Given the description of an element on the screen output the (x, y) to click on. 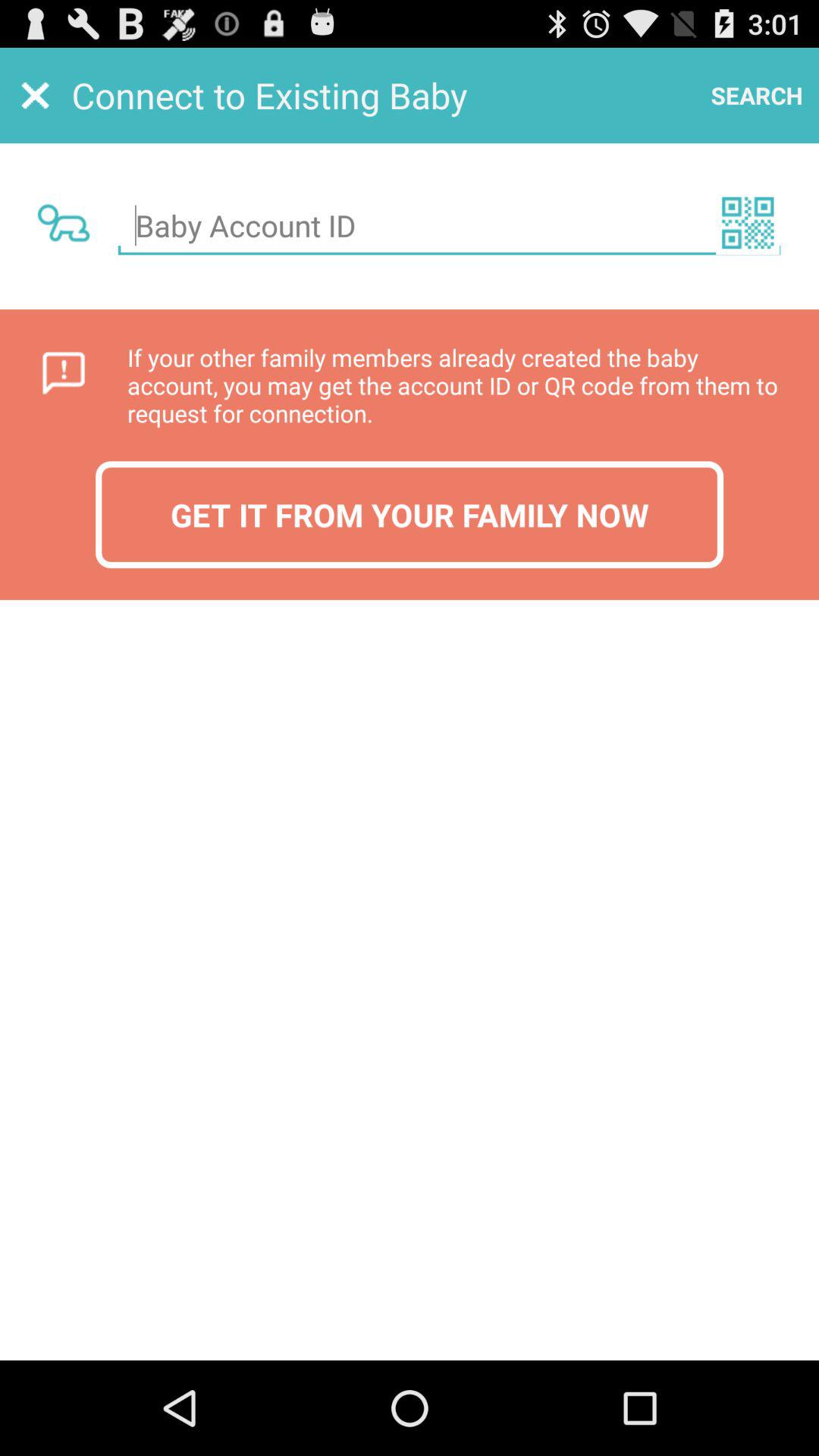
qr code (747, 222)
